Given the description of an element on the screen output the (x, y) to click on. 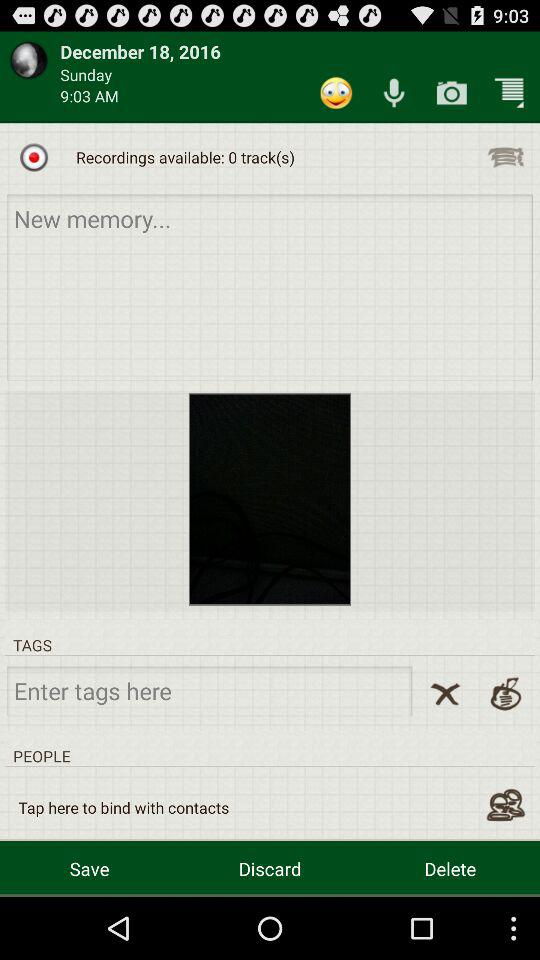
click the camera icon on the web page (451, 92)
the emoticon shown right to 903 am (336, 92)
click on delete which is to the right of discard (450, 868)
click on the button which is left side of the camera (393, 92)
click on the text above the the save button at the left bottom of the page (123, 807)
click on the button which is left side of the recordings available0 trackss (33, 157)
